Given the description of an element on the screen output the (x, y) to click on. 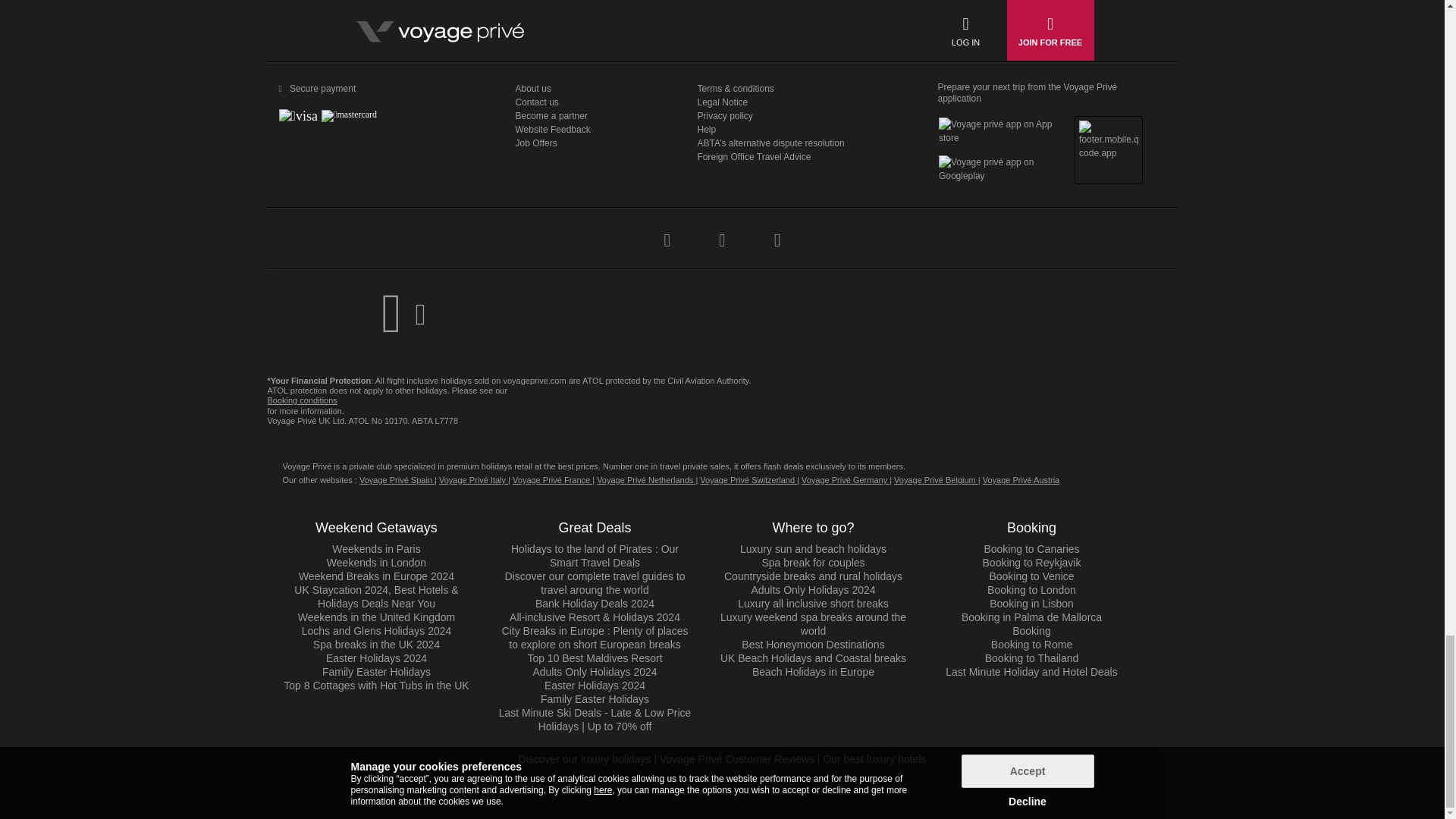
pinterest (777, 228)
instagram (721, 228)
facebook (666, 228)
